Given the description of an element on the screen output the (x, y) to click on. 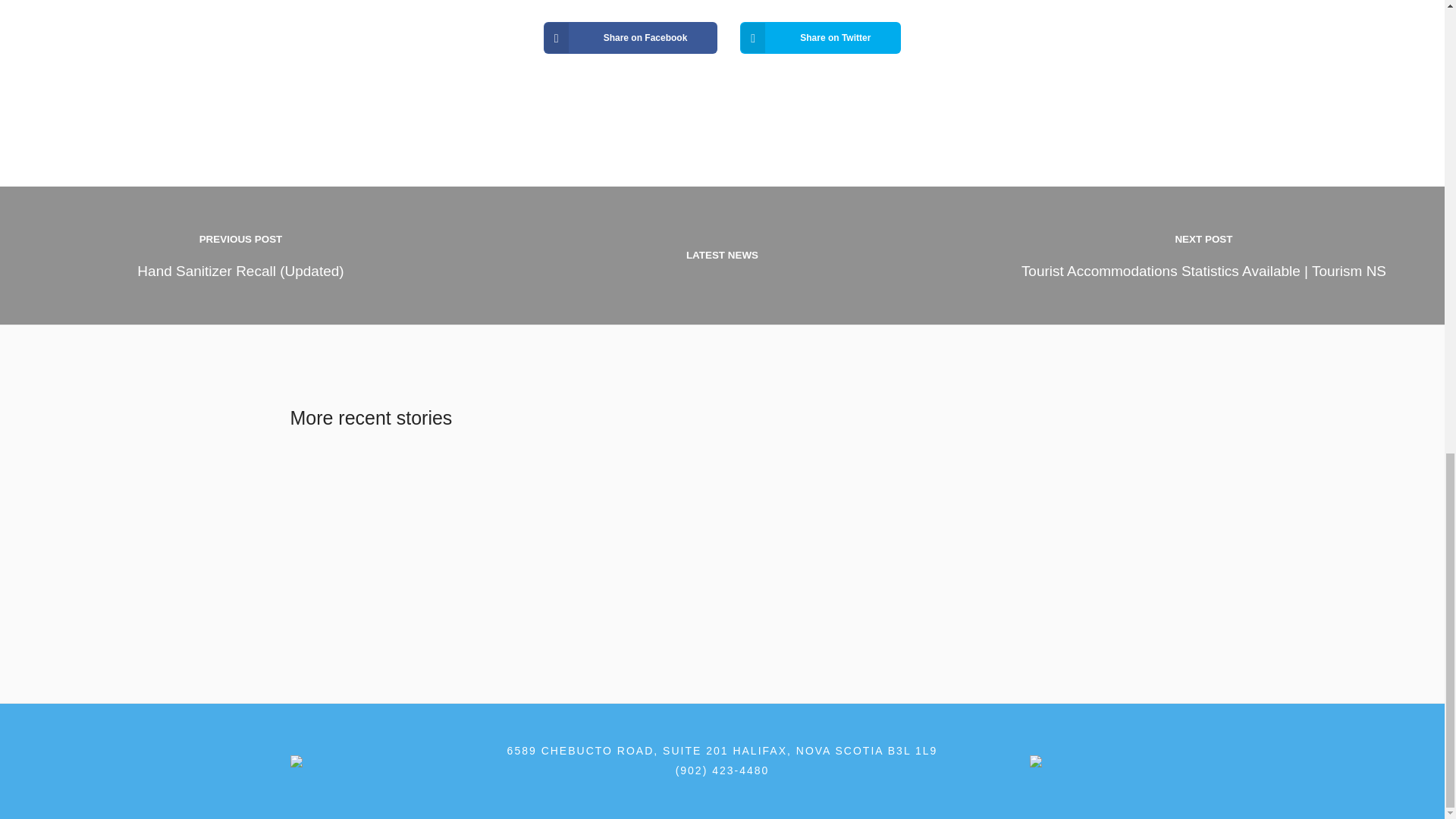
Share on Facebook (630, 38)
Share on Twitter (820, 38)
LATEST NEWS (721, 255)
